Given the description of an element on the screen output the (x, y) to click on. 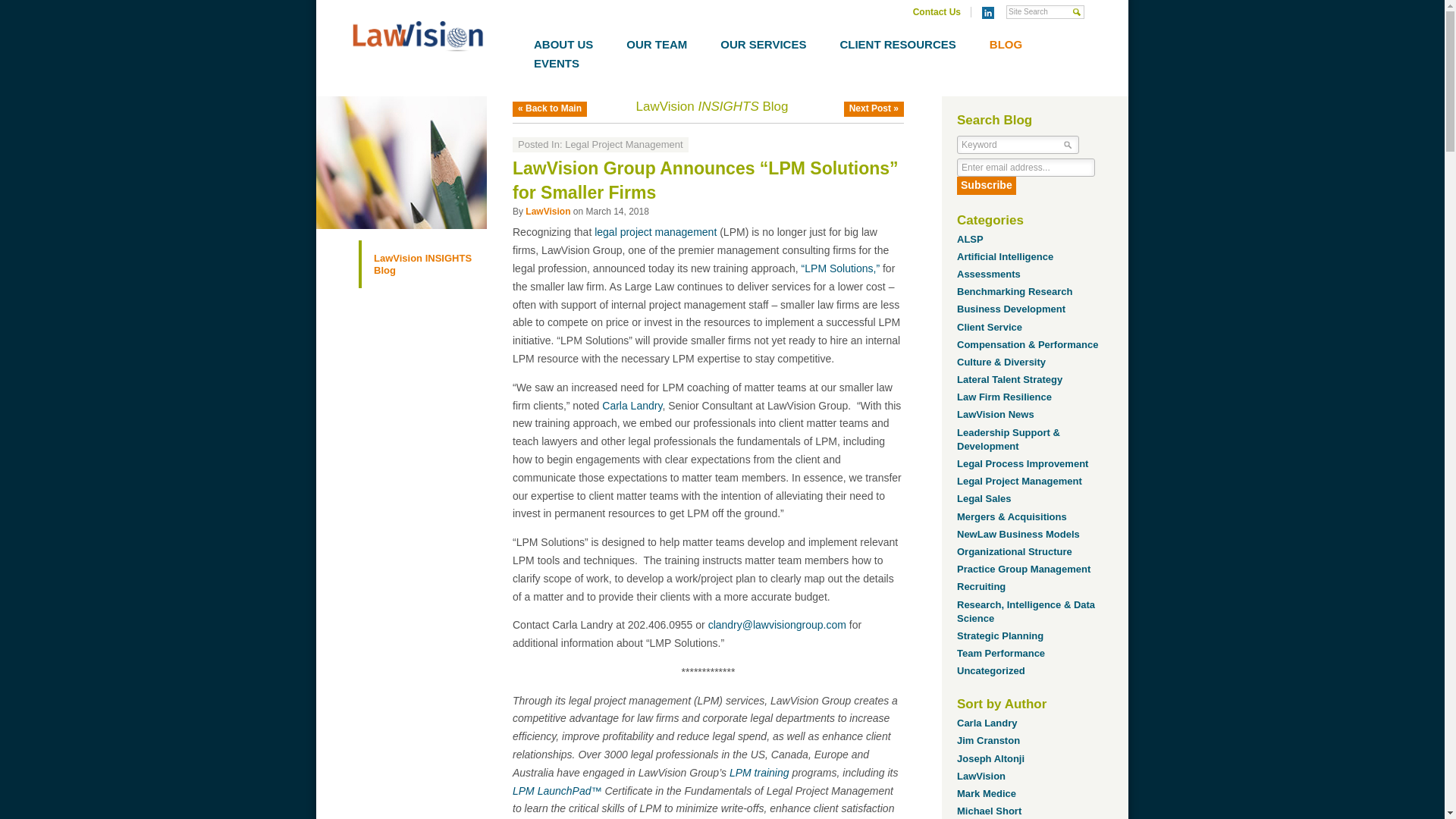
Posts by Michael Short (989, 810)
ABOUT US (563, 43)
OUR TEAM (656, 43)
OUR SERVICES (762, 43)
LinkedIn (987, 12)
Posts by LawVision (981, 776)
Posts by Mark Medice (986, 793)
Subscribe (986, 185)
Contact Us (936, 11)
LawVision (417, 37)
